Given the description of an element on the screen output the (x, y) to click on. 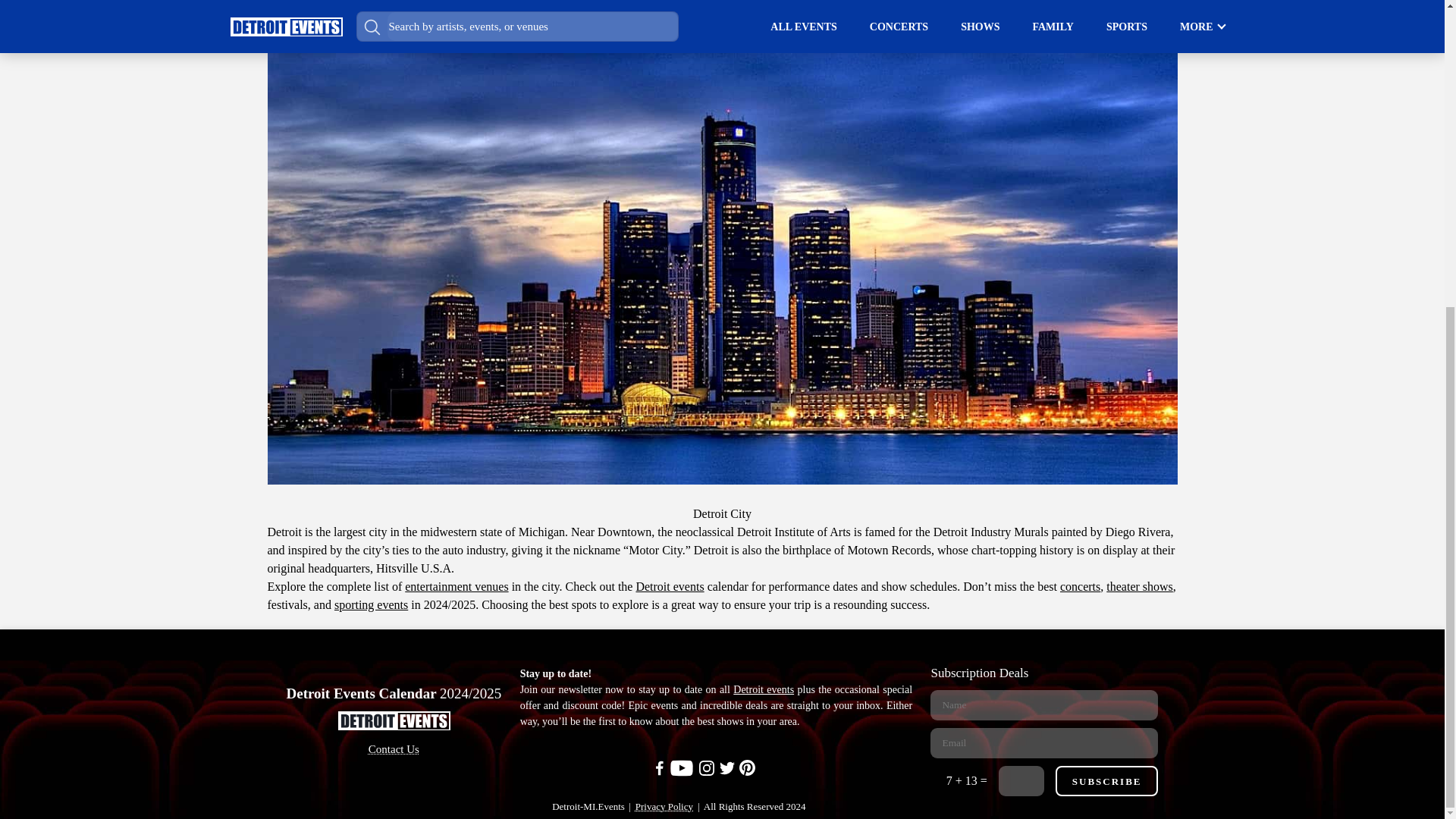
Contact Us (393, 750)
sporting events (370, 604)
Privacy Policy (663, 806)
theater shows (1139, 585)
Detroit events (763, 688)
Detroit events (668, 585)
entertainment venues (456, 585)
concerts (1079, 585)
